Given the description of an element on the screen output the (x, y) to click on. 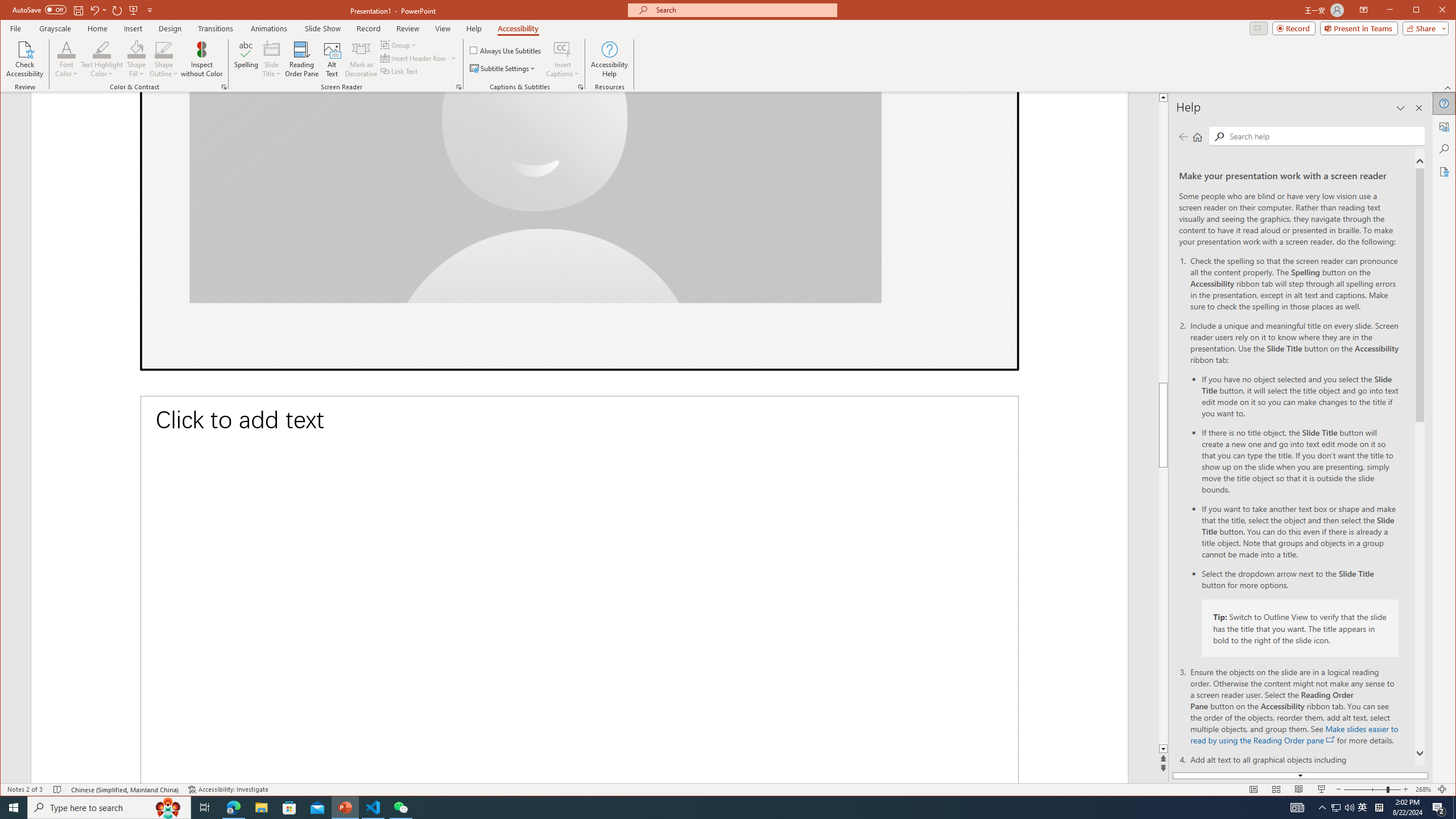
Link Text (399, 70)
